Given the description of an element on the screen output the (x, y) to click on. 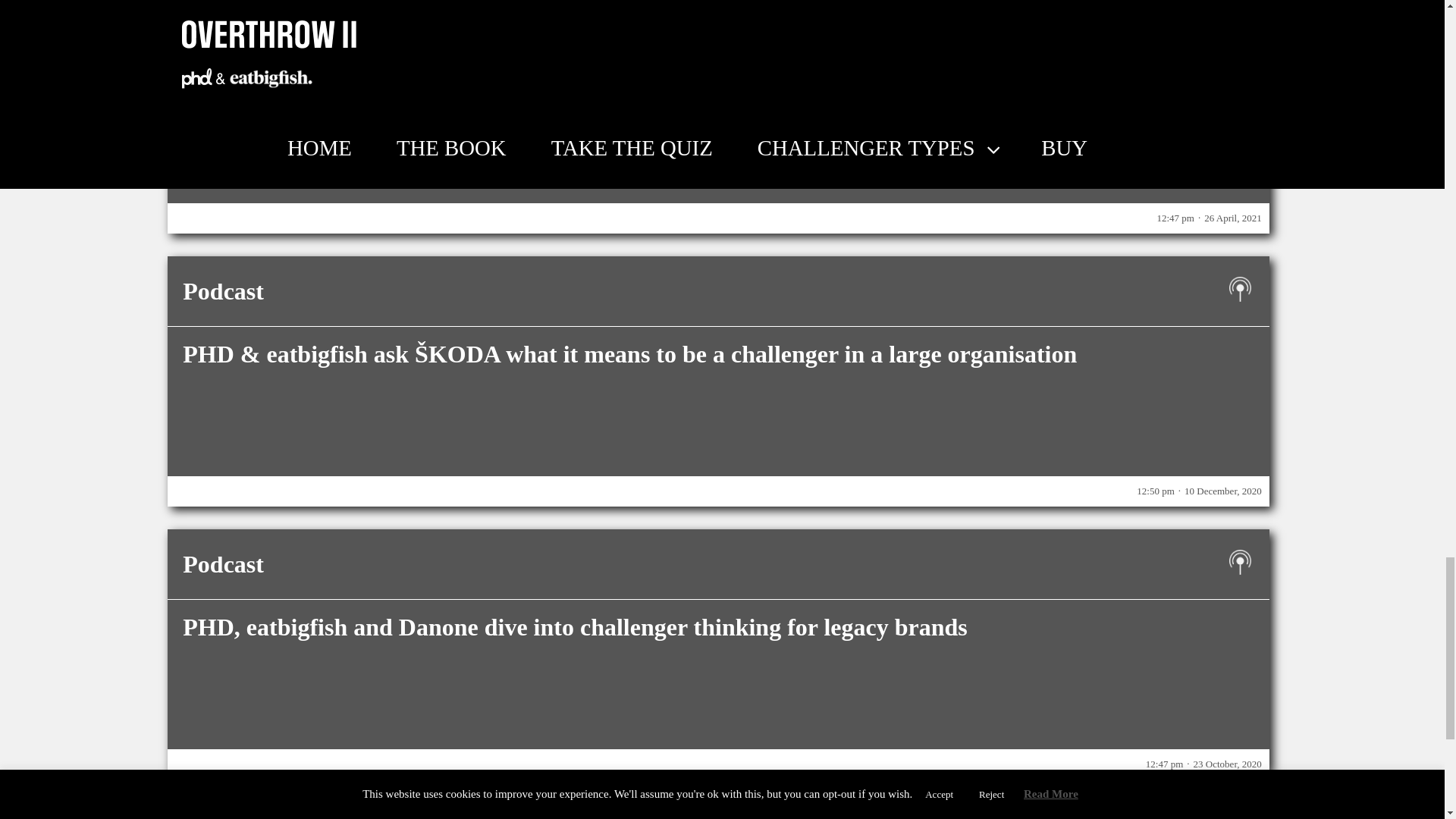
Load more (718, 815)
